Given the description of an element on the screen output the (x, y) to click on. 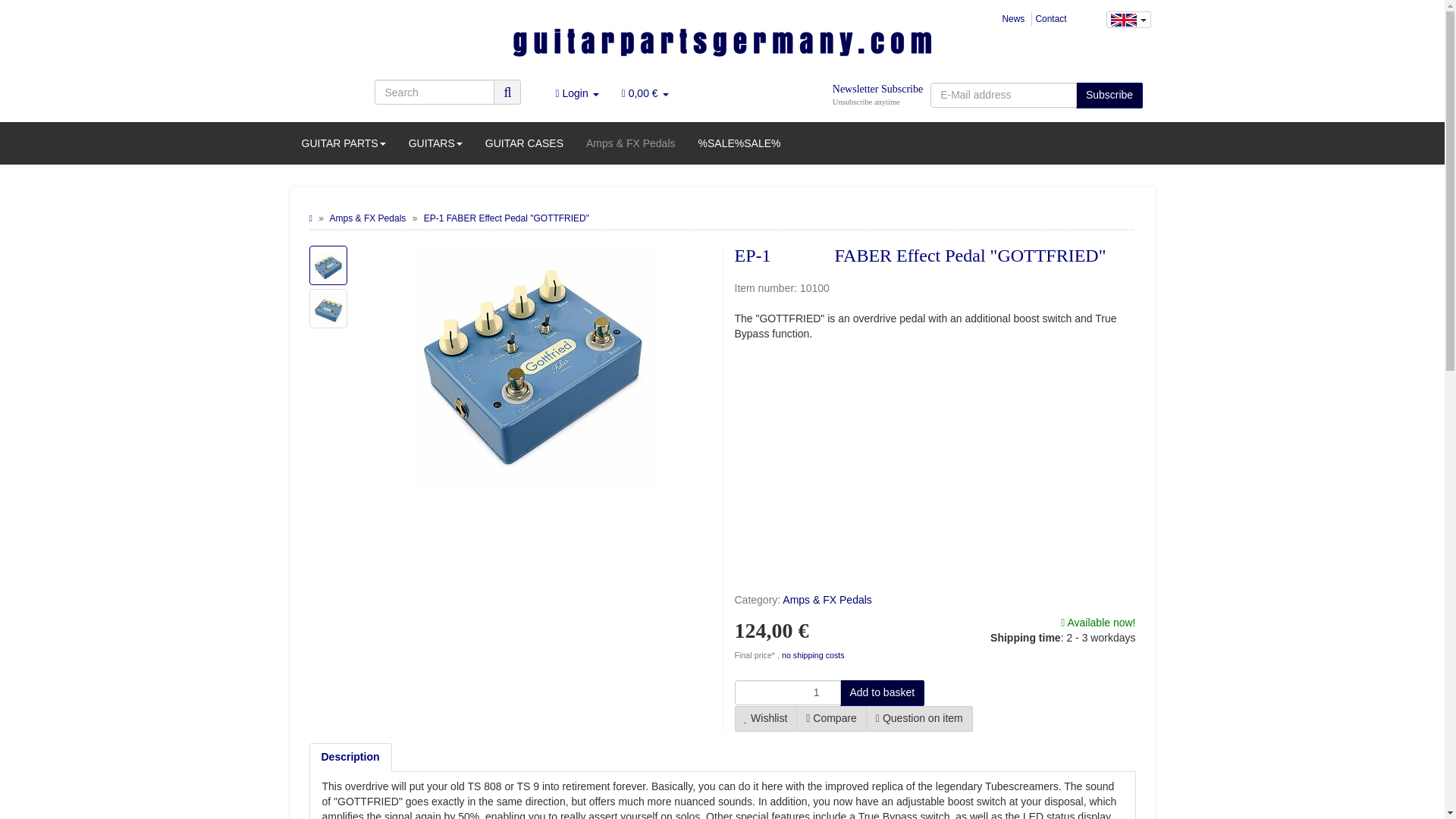
Login (576, 93)
Please choose a language (1127, 19)
News (1013, 18)
faberguitarparts.com (722, 47)
Start (310, 217)
Contact (1051, 18)
Login (576, 93)
Contact (1051, 18)
Basket (644, 93)
Subscribe (1108, 95)
News (1013, 18)
GUITAR CASES (524, 143)
1 (786, 692)
GUITARS (435, 143)
GUITAR PARTS (342, 143)
